Given the description of an element on the screen output the (x, y) to click on. 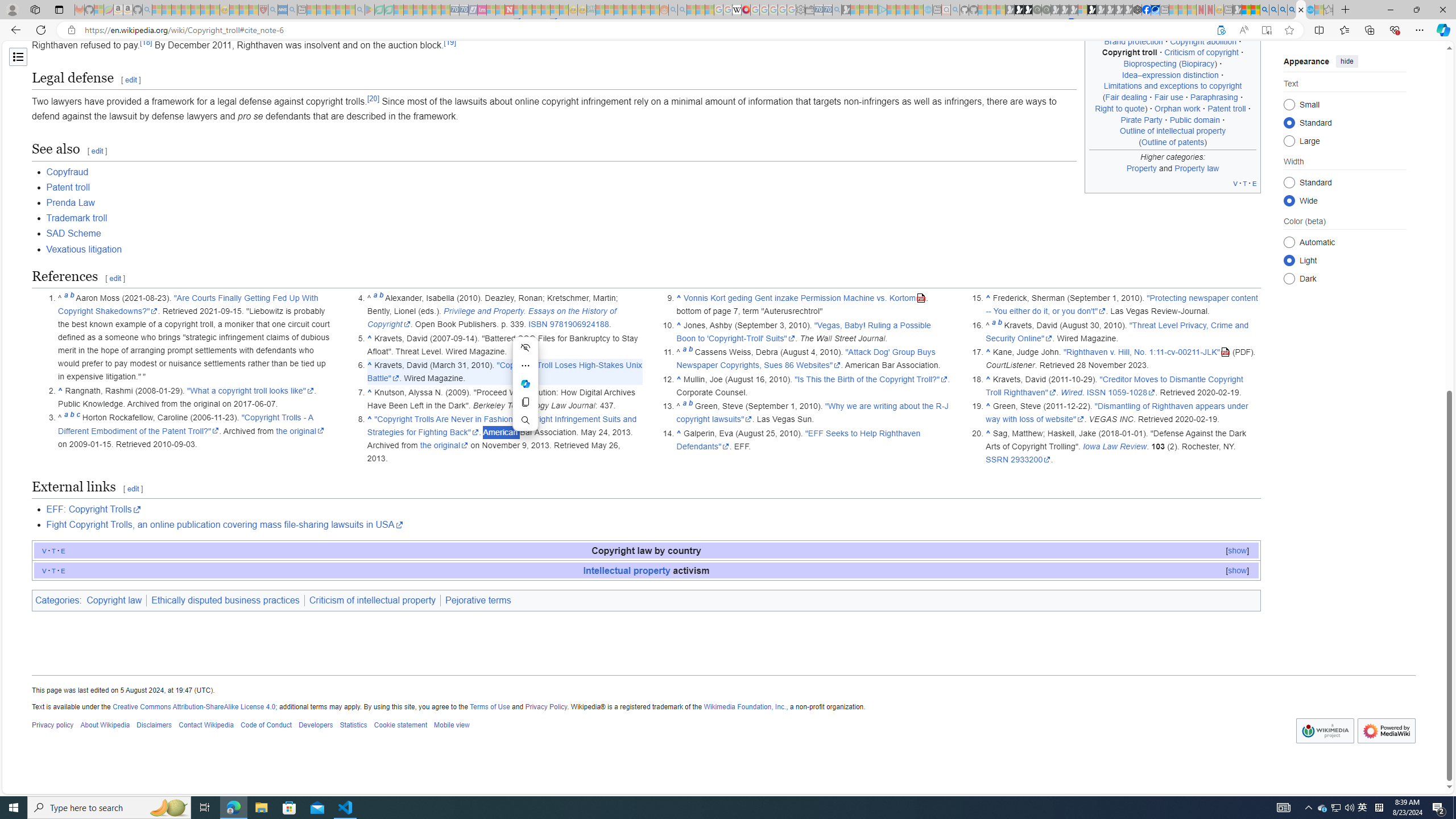
Vonnis Kort geding Gent inzake Permission Machine vs. Kortom (805, 298)
Latest Politics News & Archive | Newsweek.com - Sleeping (508, 9)
Wikimedia Foundation, Inc. (744, 706)
Terms of Use Agreement - Sleeping (378, 9)
Property (1141, 167)
ISSN (1096, 392)
Bing Real Estate - Home sales and rental listings - Sleeping (836, 9)
Pejorative terms (478, 600)
Privacy policy (53, 725)
